Given the description of an element on the screen output the (x, y) to click on. 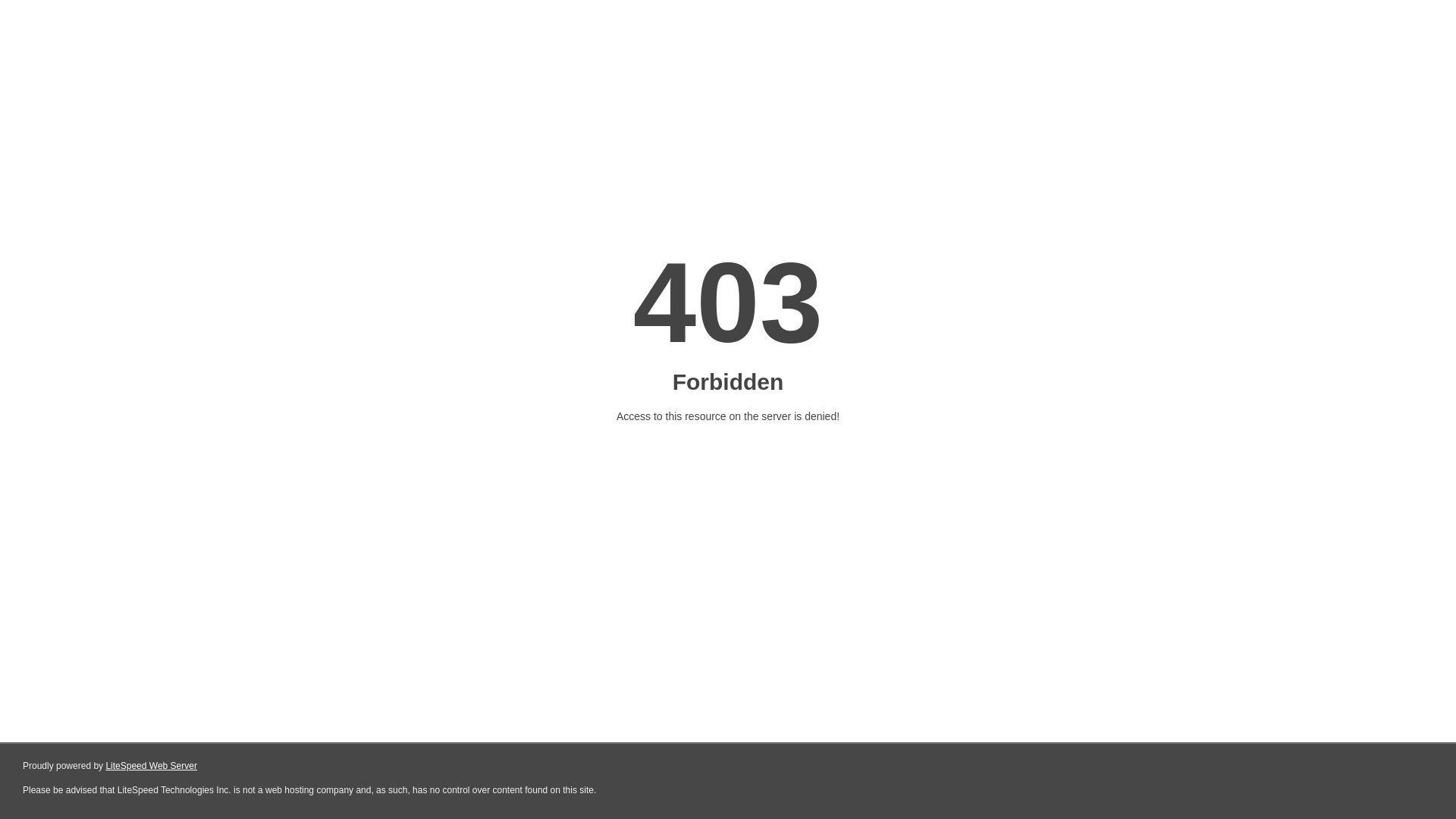
LiteSpeed Web Server (150, 765)
